Given the description of an element on the screen output the (x, y) to click on. 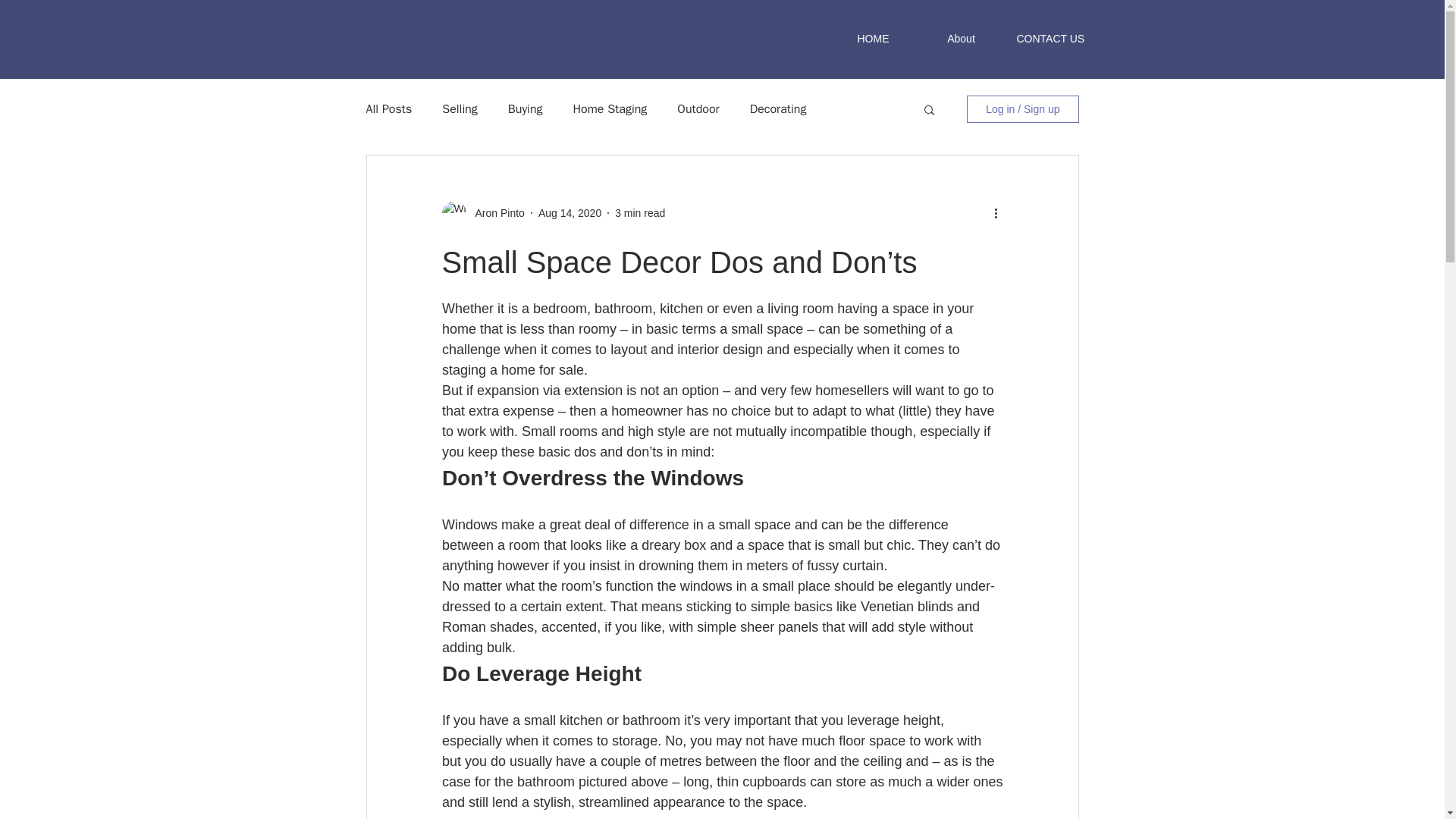
All Posts (388, 109)
Aug 14, 2020 (569, 212)
3 min read (639, 212)
Aron Pinto (494, 212)
Decorating (777, 109)
Outdoor (698, 109)
Home Staging (610, 109)
Selling (459, 109)
Buying (525, 109)
